Given the description of an element on the screen output the (x, y) to click on. 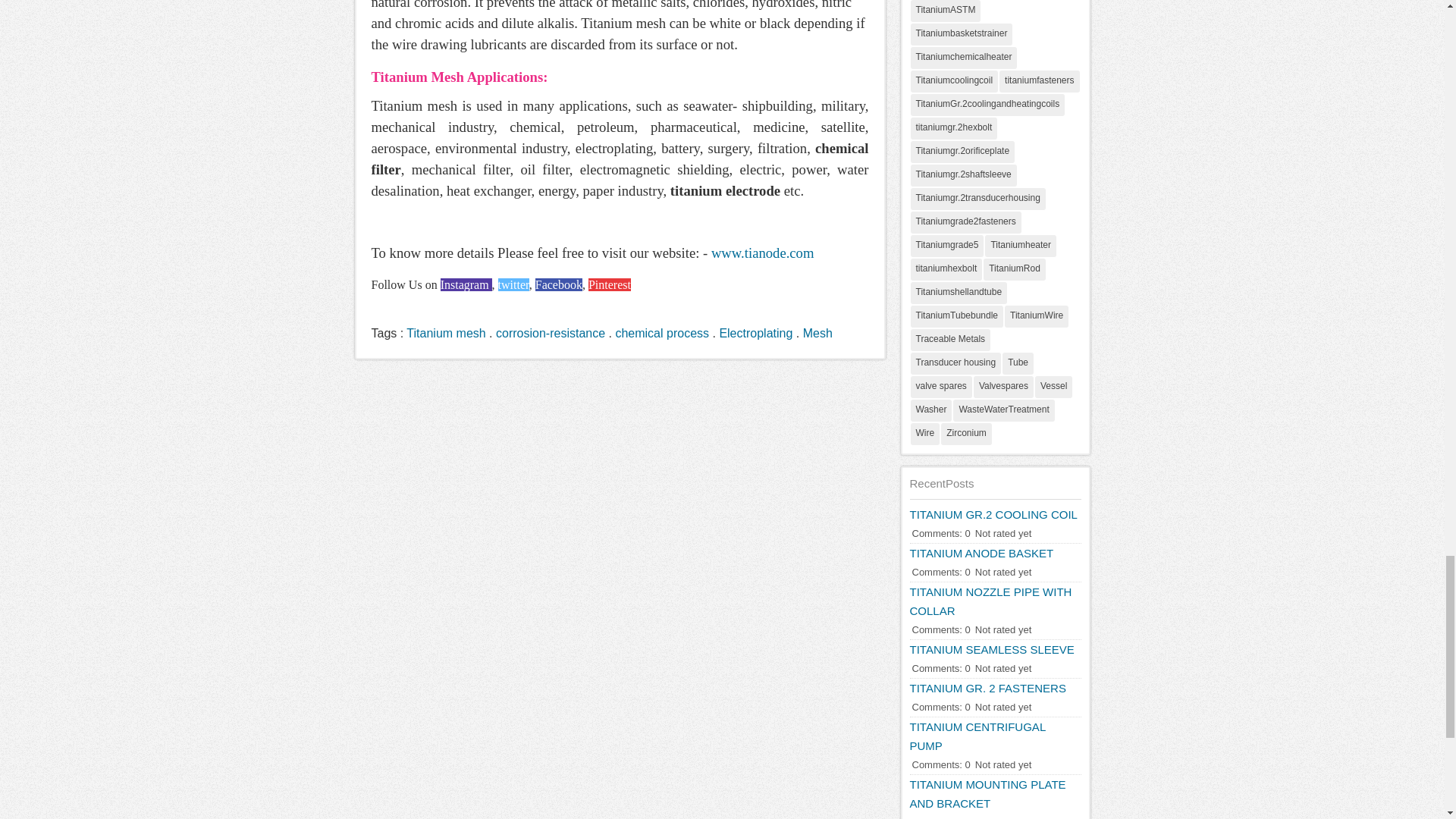
Pinterest (609, 284)
www.tianode.com (762, 253)
Facebook (557, 284)
chemical process (661, 332)
Titanium mesh (445, 332)
Instagram (466, 284)
twitter (513, 284)
corrosion-resistance (550, 332)
